Given the description of an element on the screen output the (x, y) to click on. 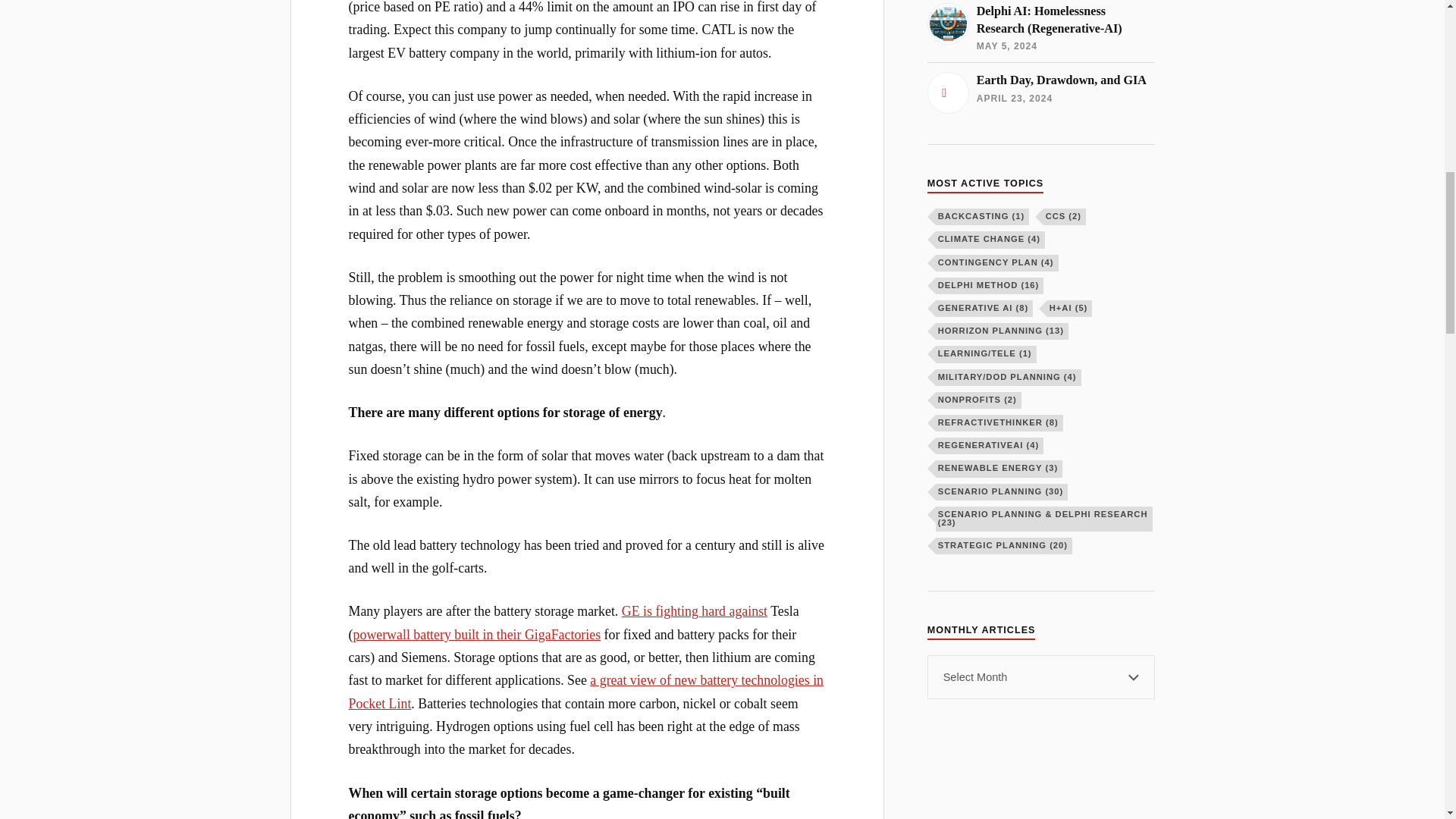
powerwall battery built in their GigaFactories (477, 634)
a great view of new battery technologies in Pocket Lint (586, 691)
GE is fighting hard against (694, 611)
